Given the description of an element on the screen output the (x, y) to click on. 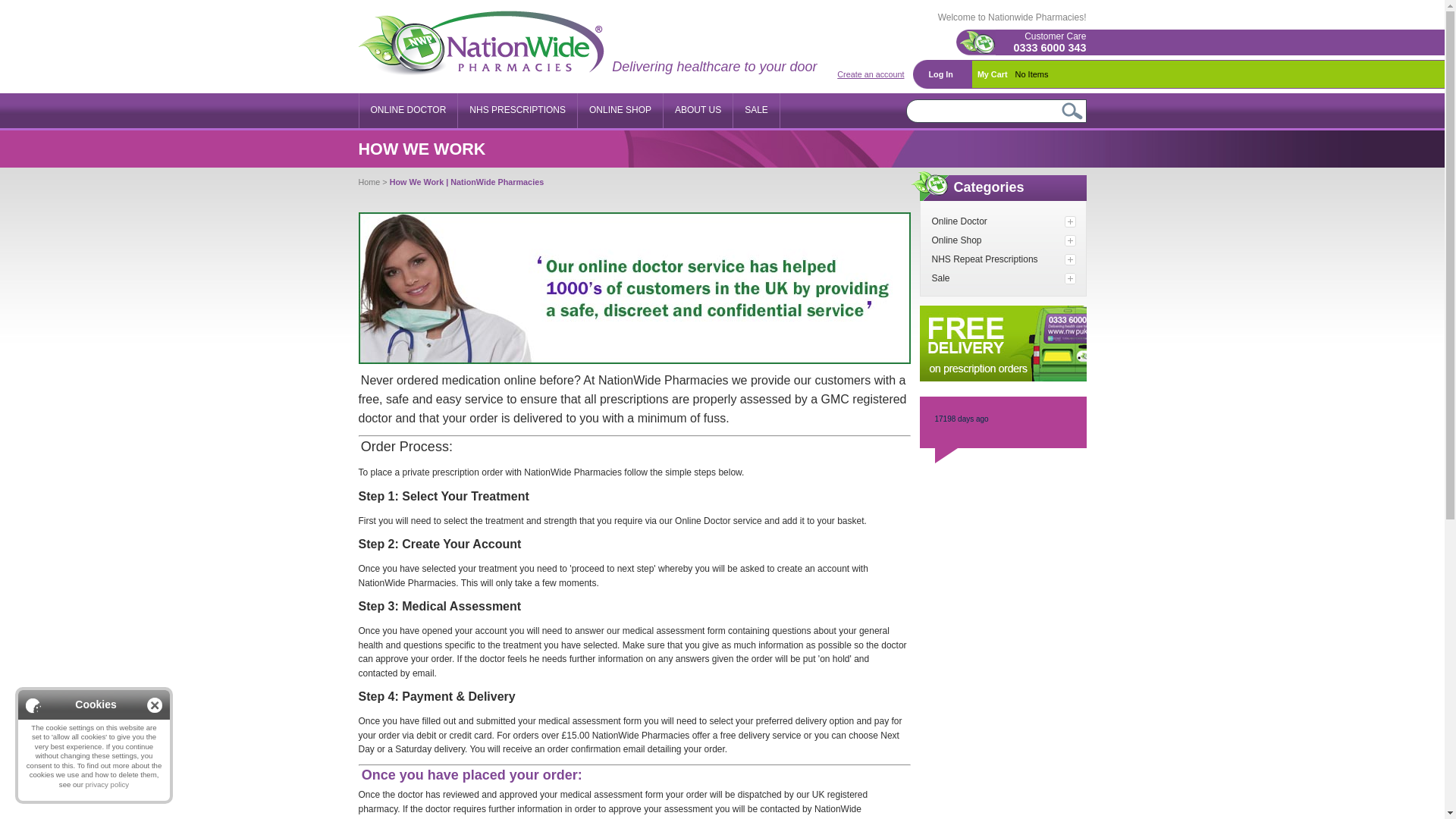
Create an account (870, 73)
How Our Online Doctor Service Works (634, 287)
Online doctor (407, 110)
Search (1072, 109)
ONLINE DOCTOR (407, 110)
Online products to purchase (619, 110)
Log In (941, 74)
NHS PRESCRIPTIONS (516, 110)
Nationwide Pharmacies (481, 43)
Go to Home Page (369, 181)
Approved NHS prescription service (516, 110)
Create an account (870, 73)
Search (1072, 109)
ONLINE SHOP (619, 110)
Log In (941, 74)
